Given the description of an element on the screen output the (x, y) to click on. 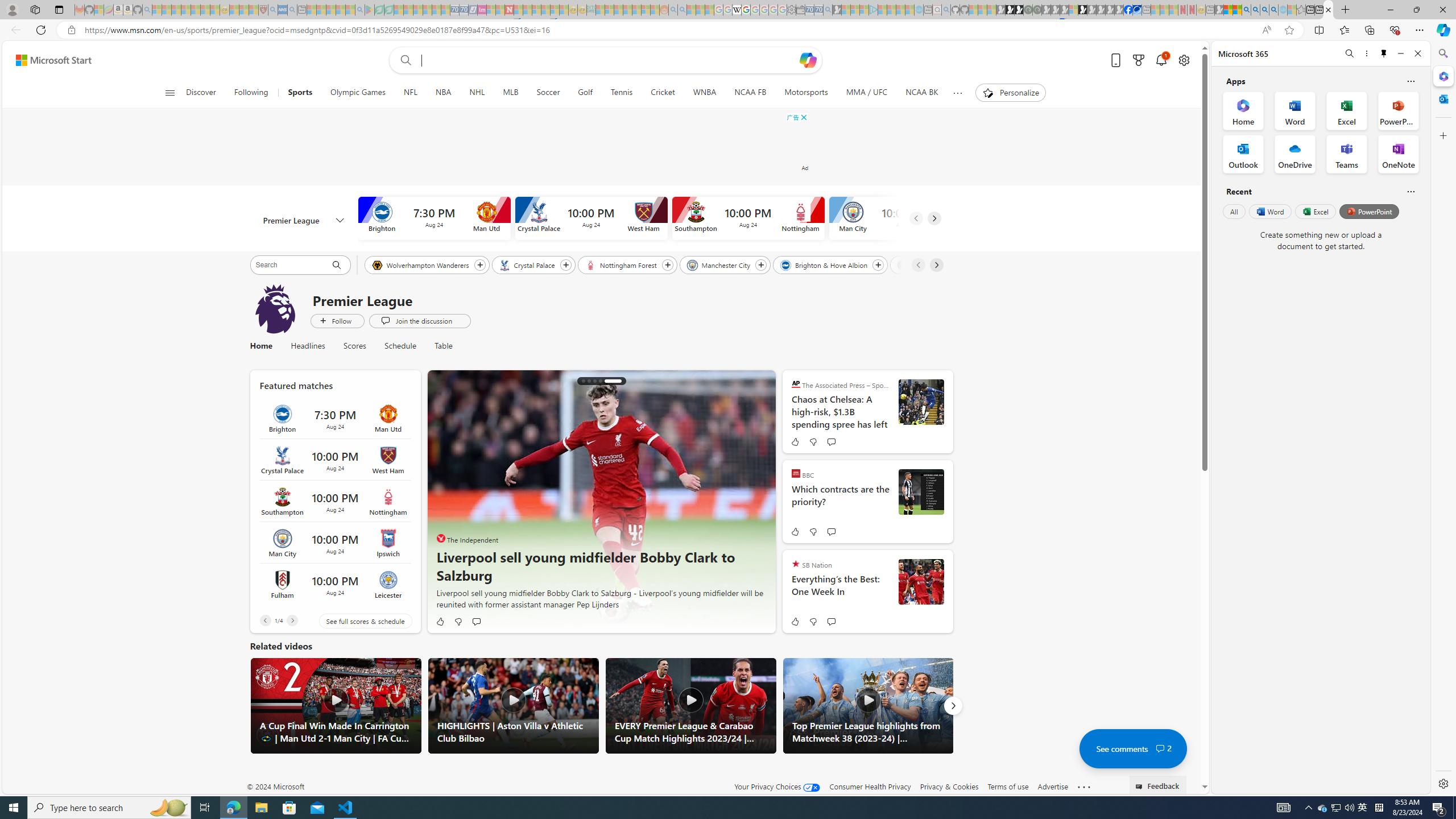
SB Nation (795, 563)
Next (952, 705)
NCAA FB (750, 92)
Follow Premier League 2024-2025 (337, 320)
PowerPoint Office App (1398, 110)
Which contracts are the priority? (839, 501)
BBC (795, 473)
